Given the description of an element on the screen output the (x, y) to click on. 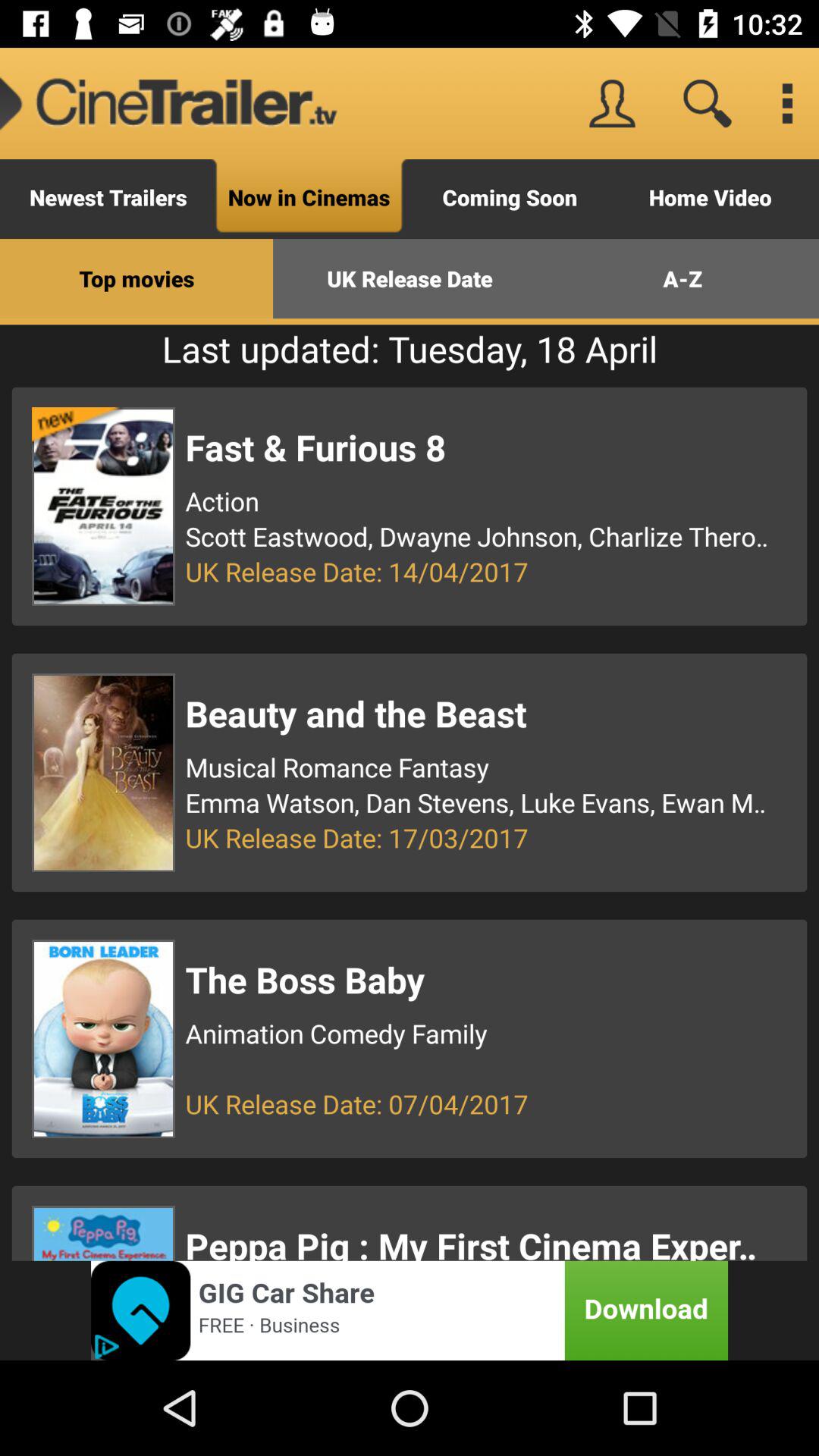
go to settings (787, 103)
